Given the description of an element on the screen output the (x, y) to click on. 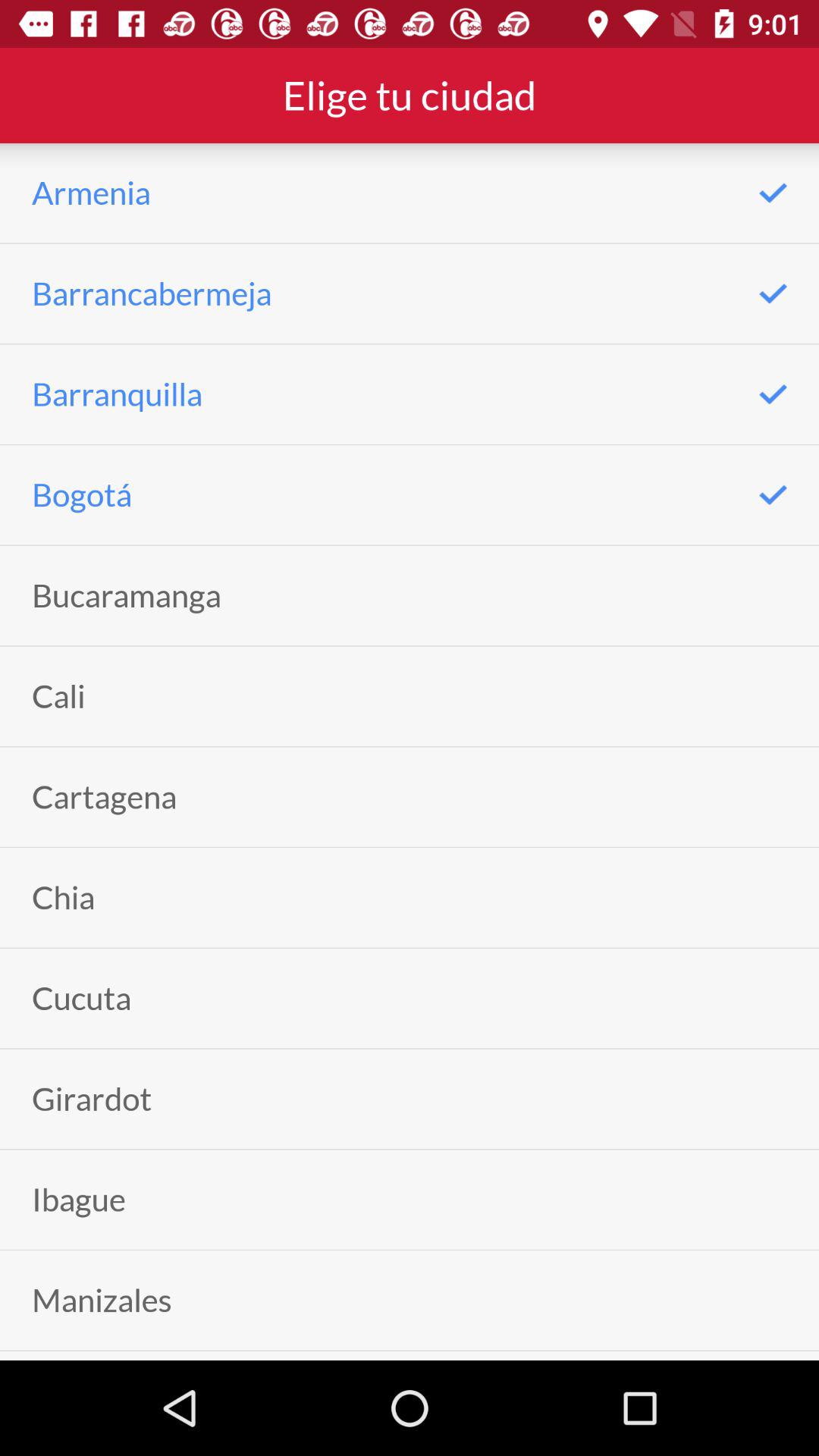
launch icon above the bucaramanga icon (81, 495)
